Given the description of an element on the screen output the (x, y) to click on. 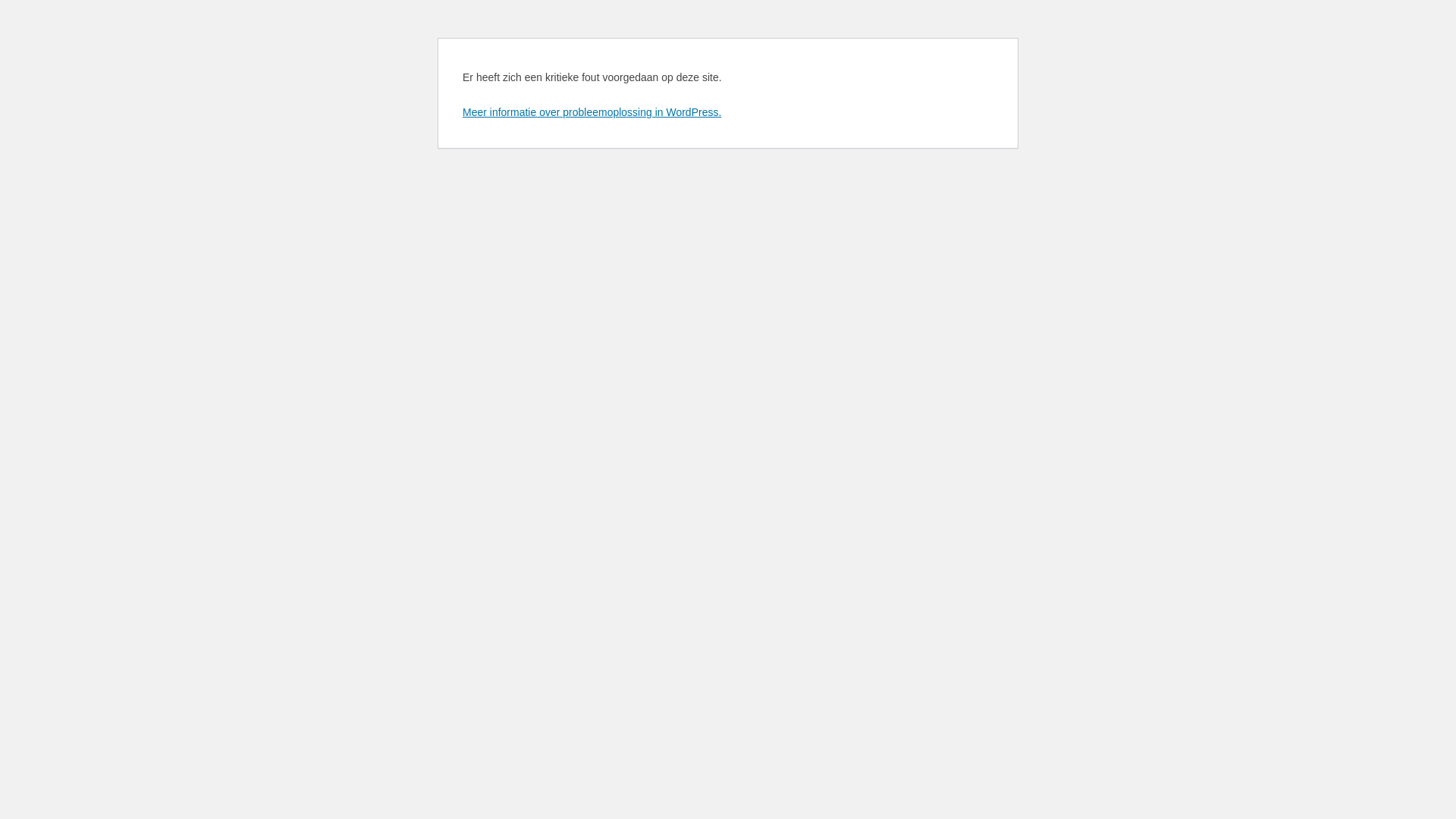
Meer informatie over probleemoplossing in WordPress. Element type: text (591, 112)
